Given the description of an element on the screen output the (x, y) to click on. 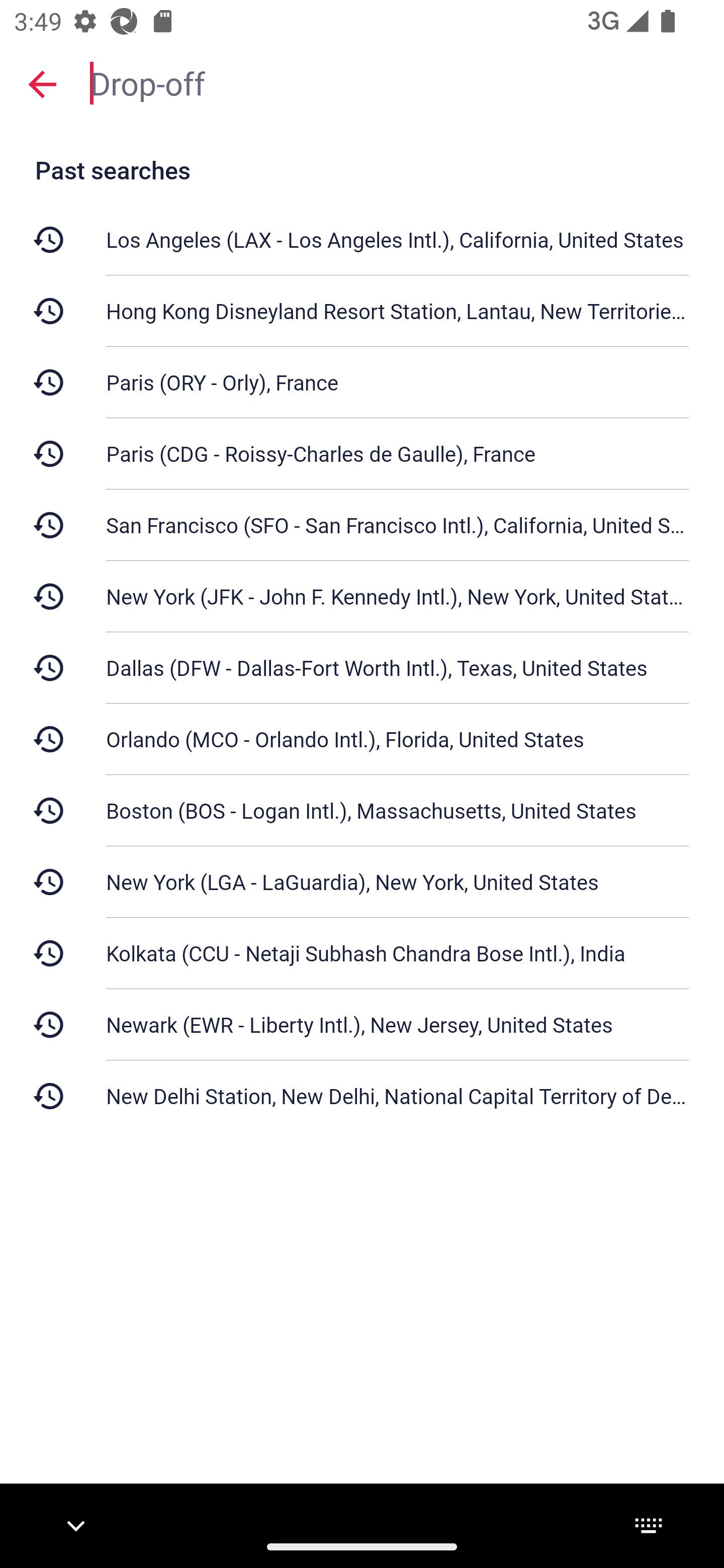
Drop-off,  (397, 82)
Close search screen (41, 83)
